Given the description of an element on the screen output the (x, y) to click on. 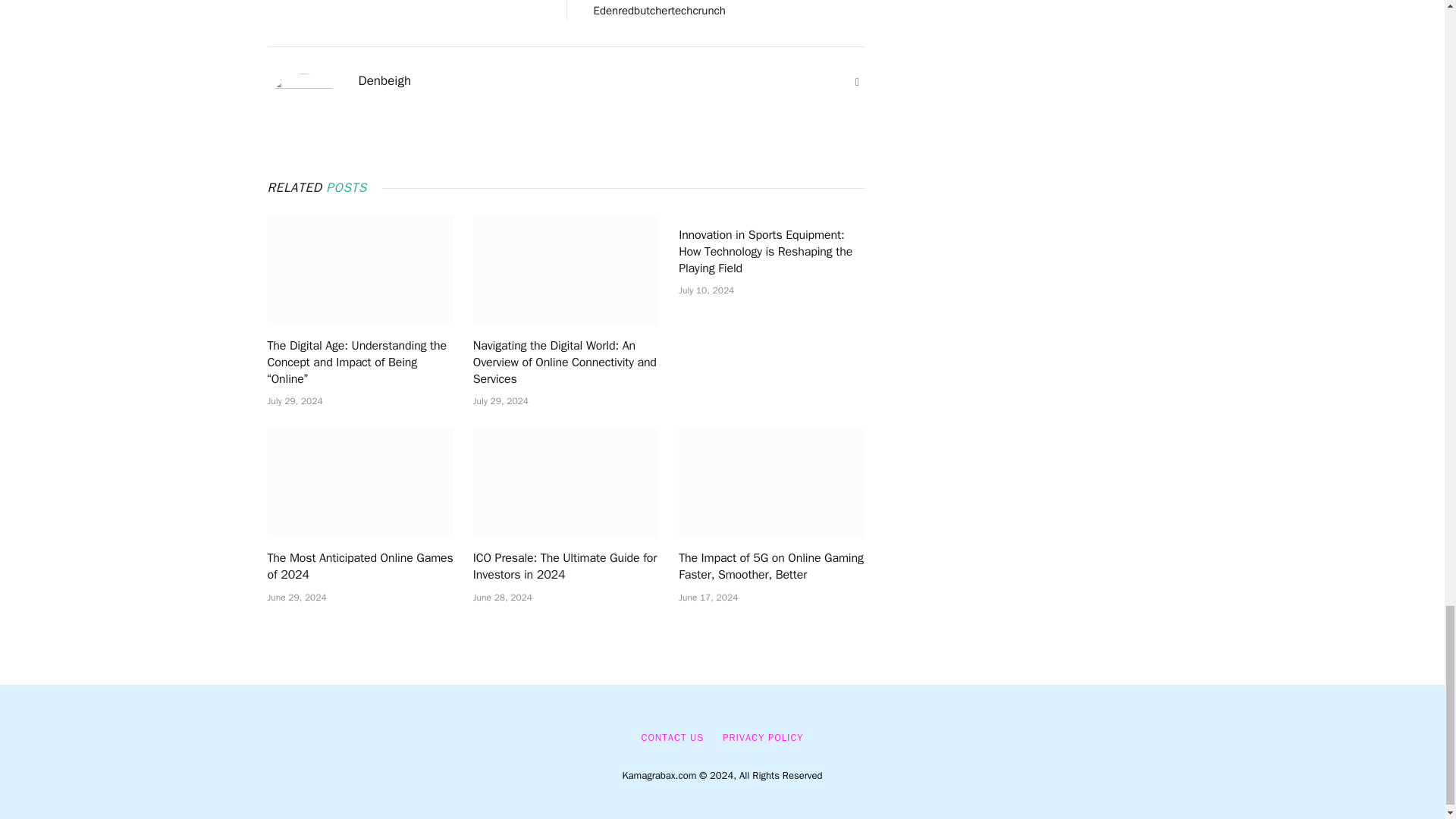
Website (856, 82)
The Most Anticipated Online Games of 2024 (359, 482)
Denbeigh (384, 80)
Posts by Denbeigh (384, 80)
ICO Presale: The Ultimate Guide for Investors in 2024 (566, 482)
Website (856, 82)
Londonbased Banked Series Boa Edenredbutchertechcrunch (675, 9)
